Given the description of an element on the screen output the (x, y) to click on. 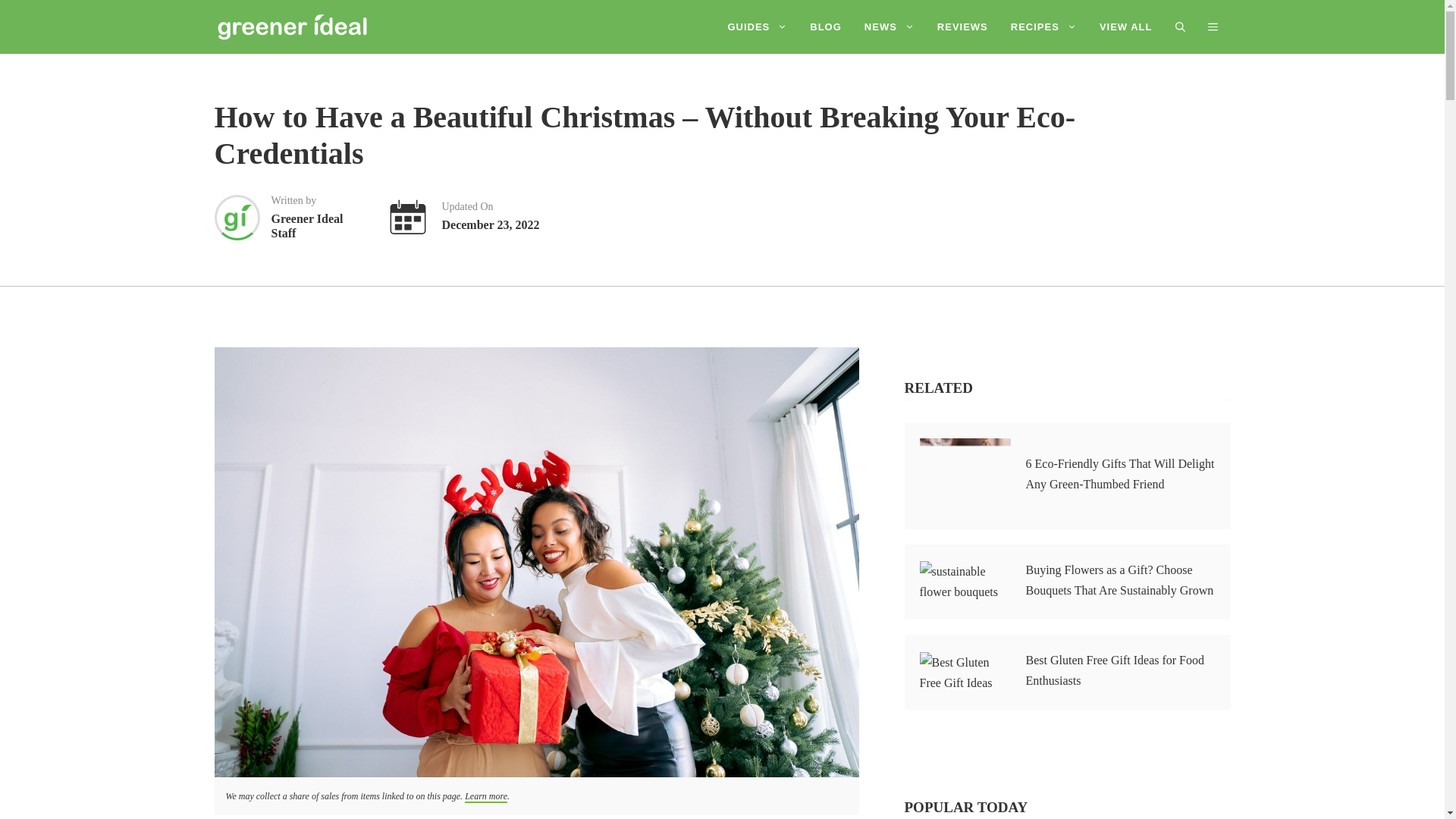
GUIDES (756, 27)
REVIEWS (962, 27)
Greener Ideal Staff (237, 215)
Greener Ideal Staff (318, 216)
VIEW ALL (1125, 27)
NEWS (889, 27)
Learn more (485, 797)
Greener Ideal Staff (318, 216)
BLOG (825, 27)
RECIPES (1042, 27)
